Given the description of an element on the screen output the (x, y) to click on. 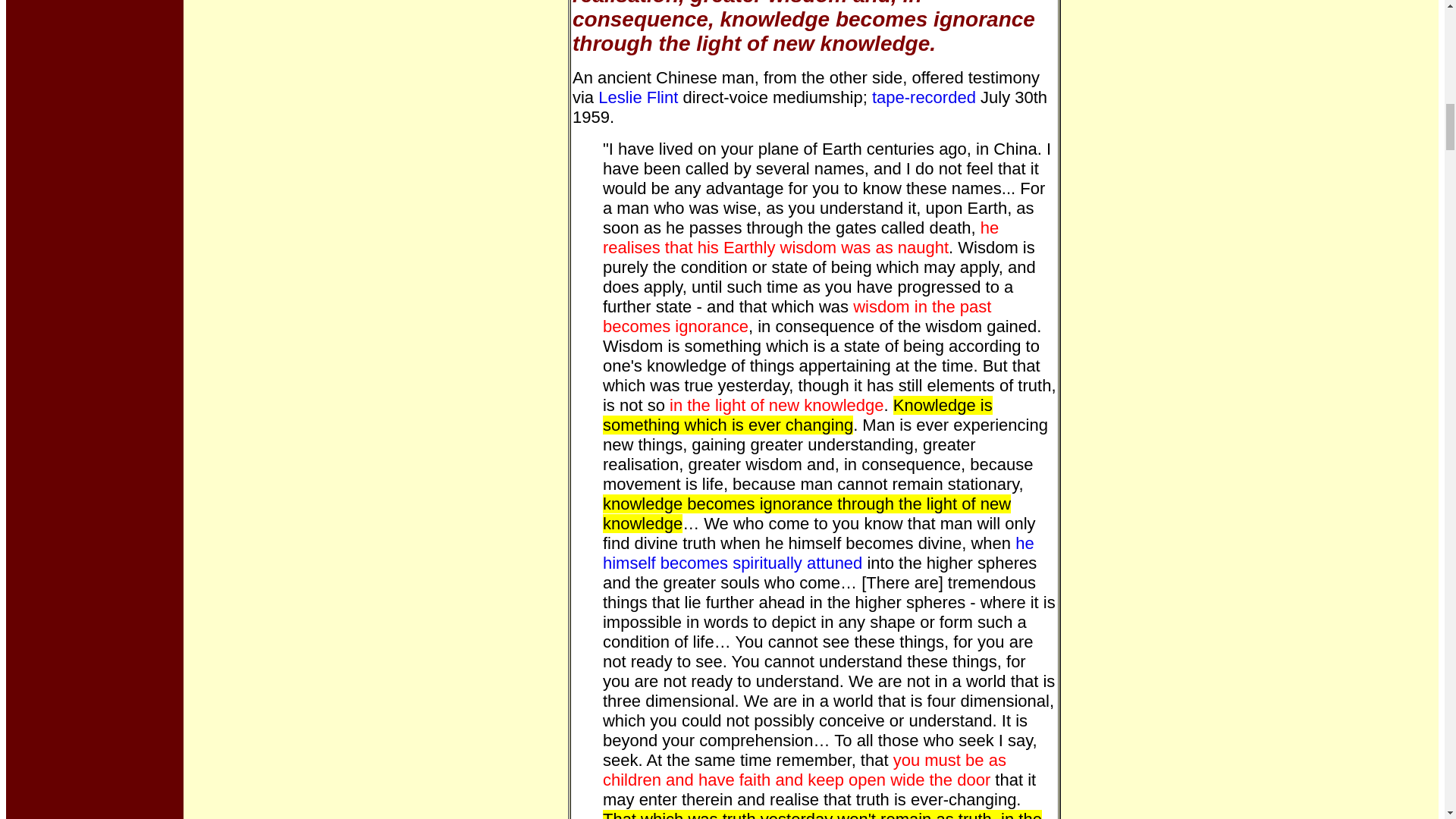
he himself becomes spiritually attuned (817, 552)
Leslie Flint (638, 97)
tape-recorded (923, 97)
